Given the description of an element on the screen output the (x, y) to click on. 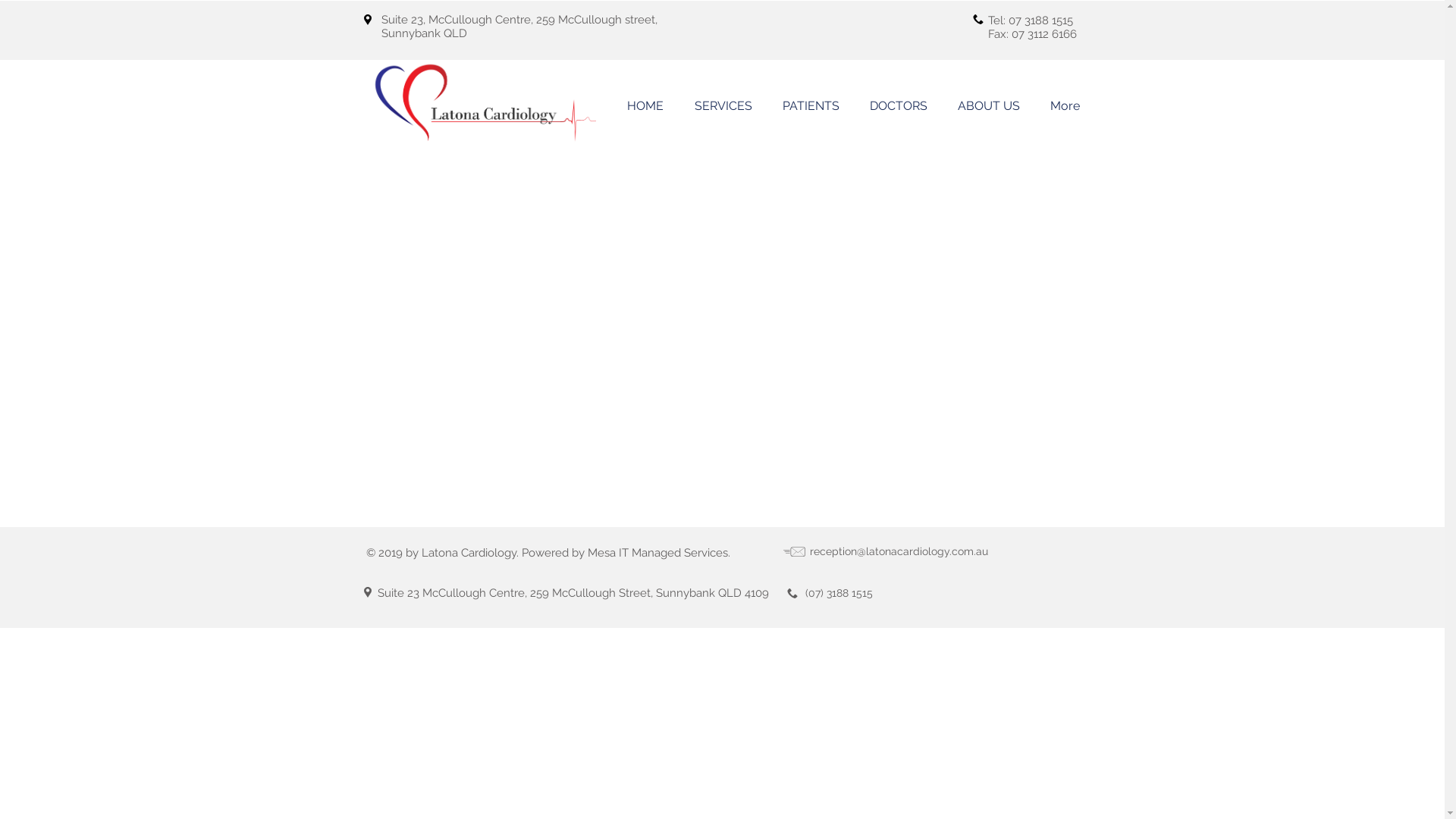
Mesa IT Element type: text (606, 552)
PATIENTS Element type: text (810, 105)
SERVICES Element type: text (723, 105)
reception@latonacardiology.com.au Element type: text (898, 551)
ABOUT US Element type: text (987, 105)
DOCTORS Element type: text (897, 105)
HOME Element type: text (644, 105)
